Given the description of an element on the screen output the (x, y) to click on. 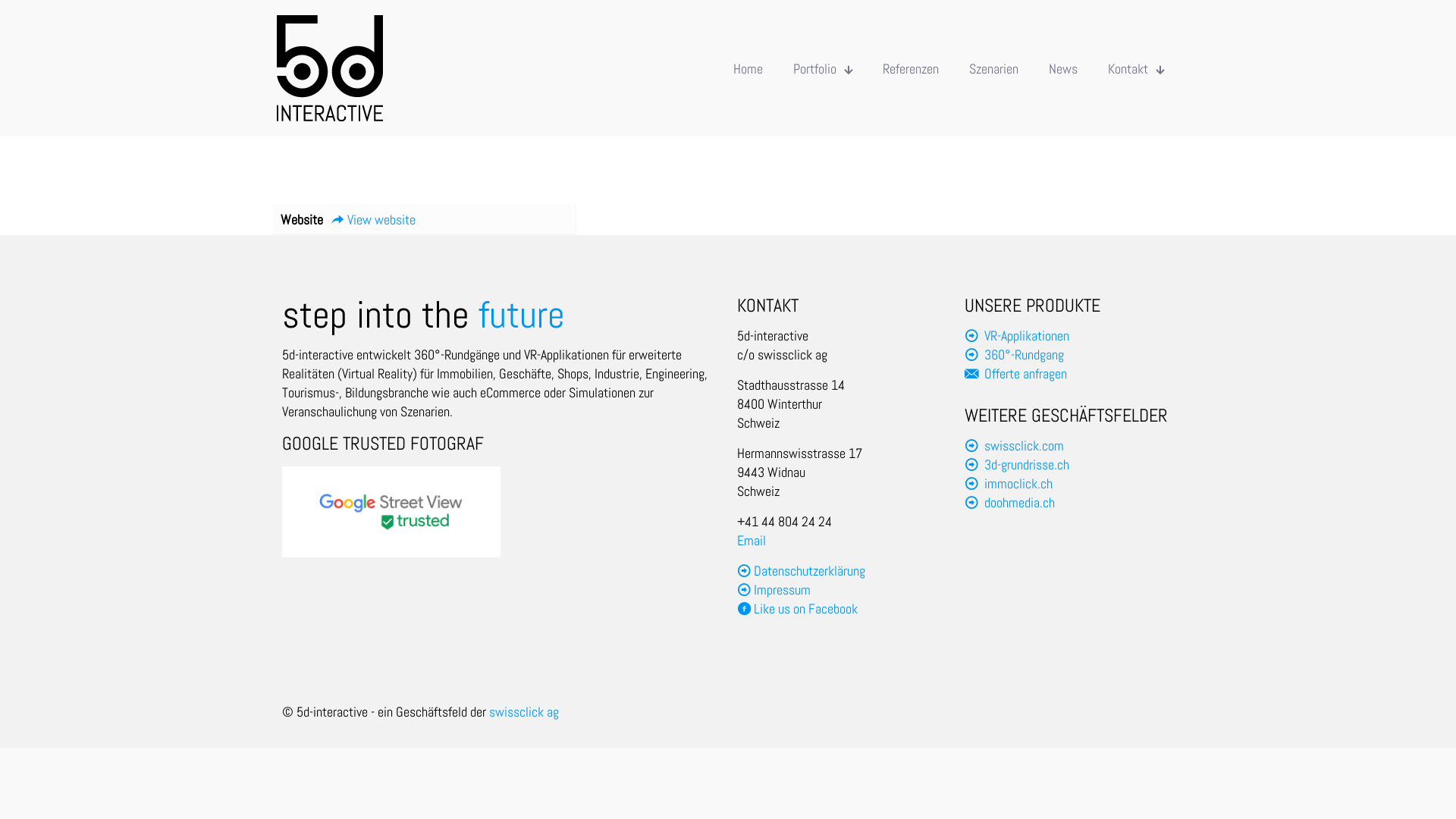
Kontakt Element type: text (1135, 67)
immoclick.ch Element type: text (1018, 483)
Referenzen Element type: text (910, 67)
future Element type: text (521, 314)
Offerte anfragen Element type: text (1025, 373)
swissclick ag Element type: text (523, 711)
Email Element type: text (751, 540)
Home Element type: text (748, 67)
doohmedia.ch Element type: text (1019, 502)
Szenarien Element type: text (993, 67)
View website Element type: text (372, 219)
3d-grundrisse.ch Element type: text (1026, 464)
Impressum Element type: text (781, 589)
News Element type: text (1062, 67)
VR-Applikationen Element type: text (1026, 335)
Like us on Facebook Element type: text (797, 608)
swissclick.com Element type: text (1023, 445)
Portfolio Element type: text (822, 67)
